Given the description of an element on the screen output the (x, y) to click on. 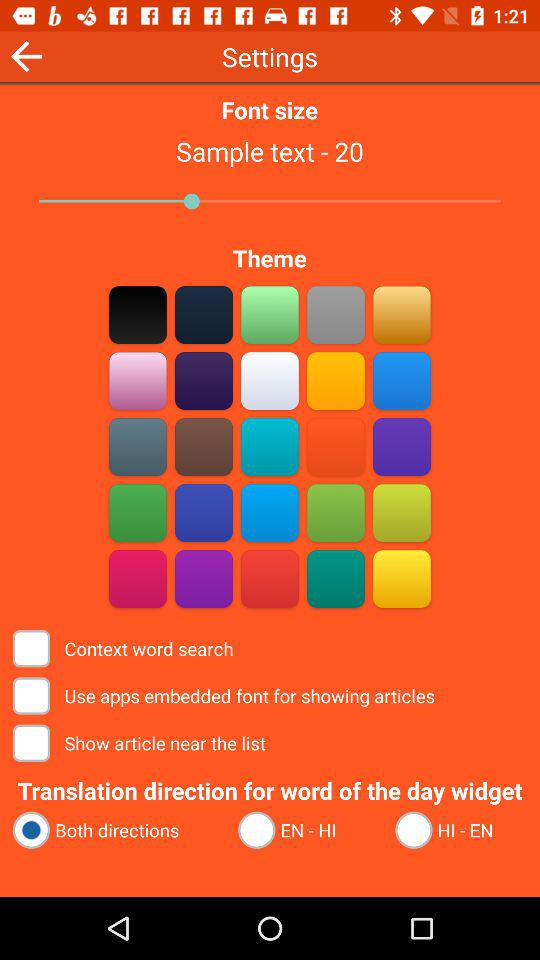
launch the checkbox above the show article near checkbox (225, 695)
